Given the description of an element on the screen output the (x, y) to click on. 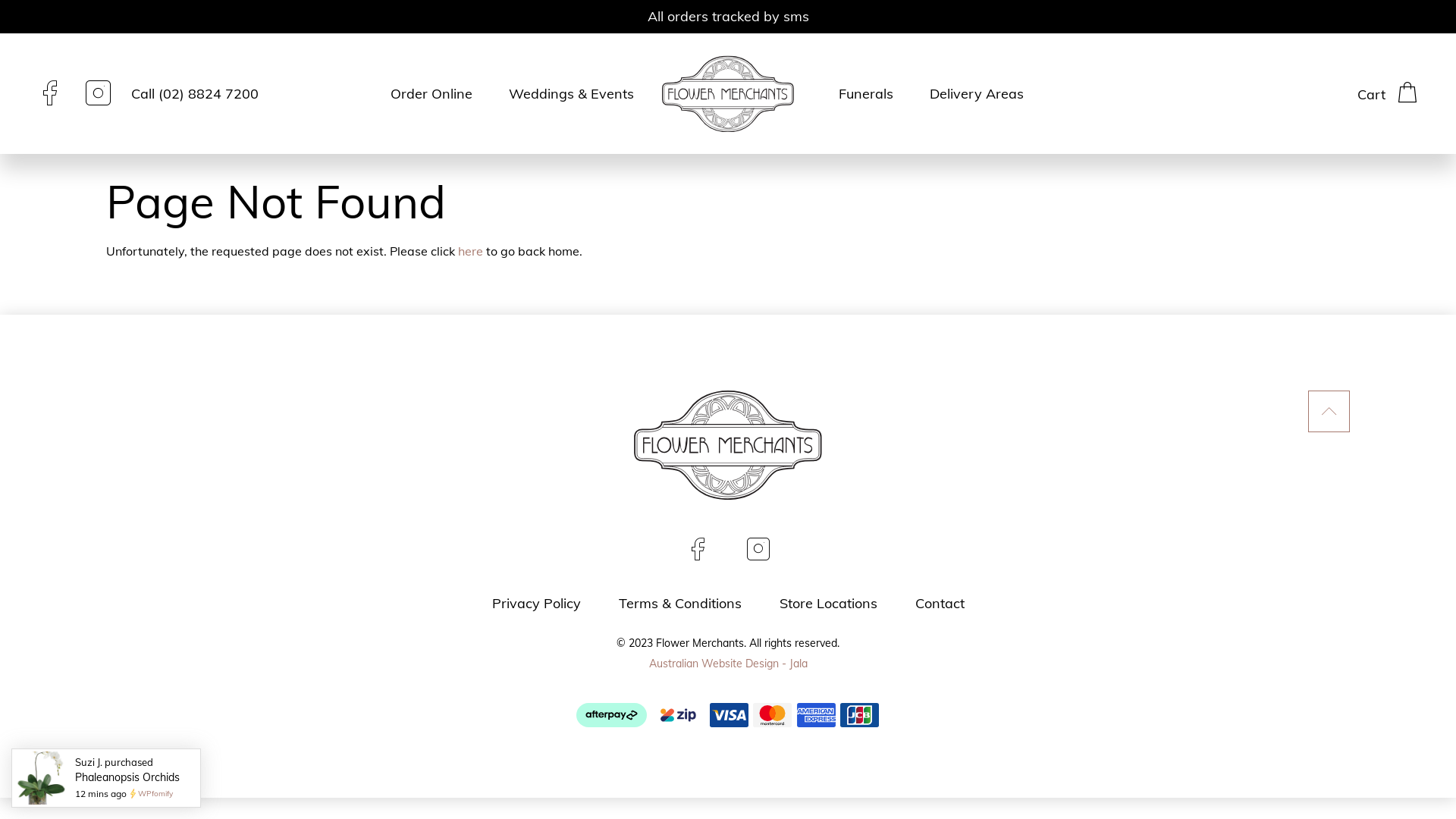
Order before 1pm Mon - Fri for same day delivery Element type: text (727, 16)
Australian Website Design - Jala Element type: text (728, 663)
Cart Element type: text (1387, 92)
Privacy Policy Element type: text (535, 602)
here Element type: text (470, 250)
Terms & Conditions Element type: text (679, 602)
Contact Element type: text (938, 602)
Funerals Element type: text (865, 93)
Store Locations Element type: text (828, 602)
Powered by WPfomify Element type: hover (132, 793)
Order Online Element type: text (431, 93)
Weddings & Events Element type: text (570, 93)
Delivery Areas Element type: text (976, 93)
Call (02) 8824 7200 Element type: text (194, 93)
WPfomify Element type: text (155, 793)
